Given the description of an element on the screen output the (x, y) to click on. 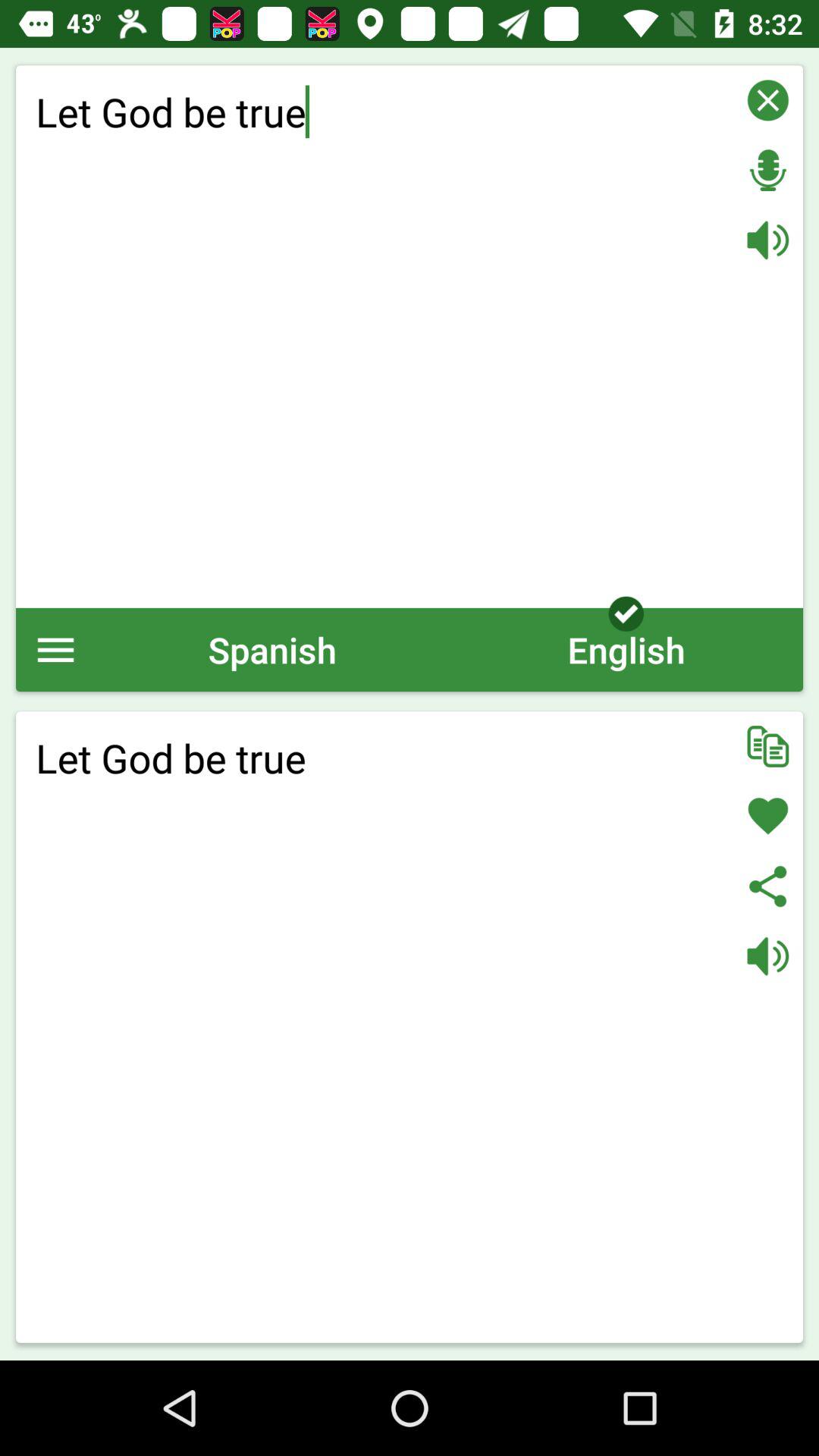
menu options (55, 649)
